Given the description of an element on the screen output the (x, y) to click on. 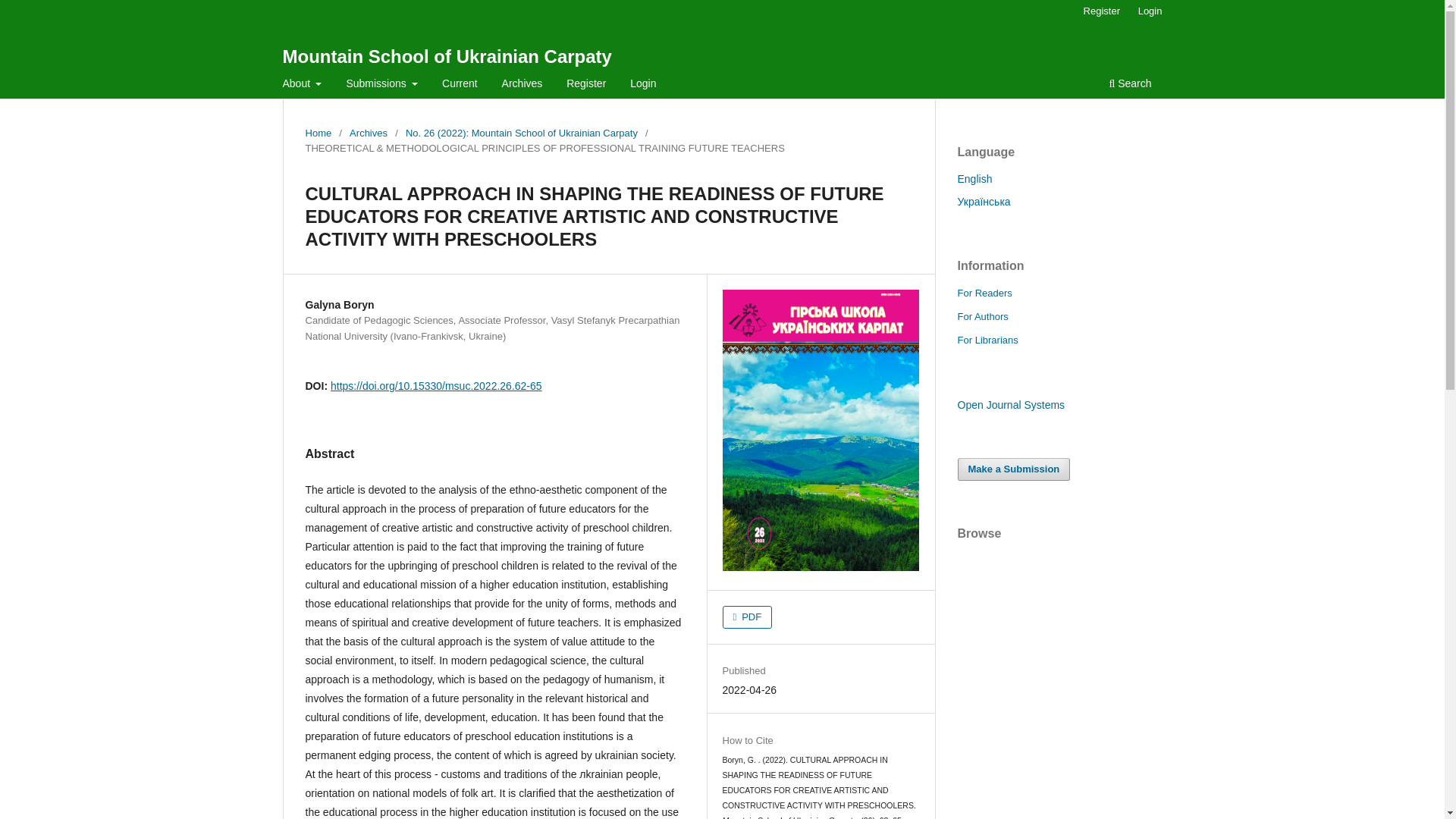
PDF (747, 617)
About (302, 85)
Login (642, 85)
Register (585, 85)
Login (1150, 11)
Search (1129, 85)
Register (1100, 11)
Archives (368, 133)
Home (317, 133)
Archives (522, 85)
Mountain School of Ukrainian Carpaty (446, 56)
Current (459, 85)
Submissions (381, 85)
